Given the description of an element on the screen output the (x, y) to click on. 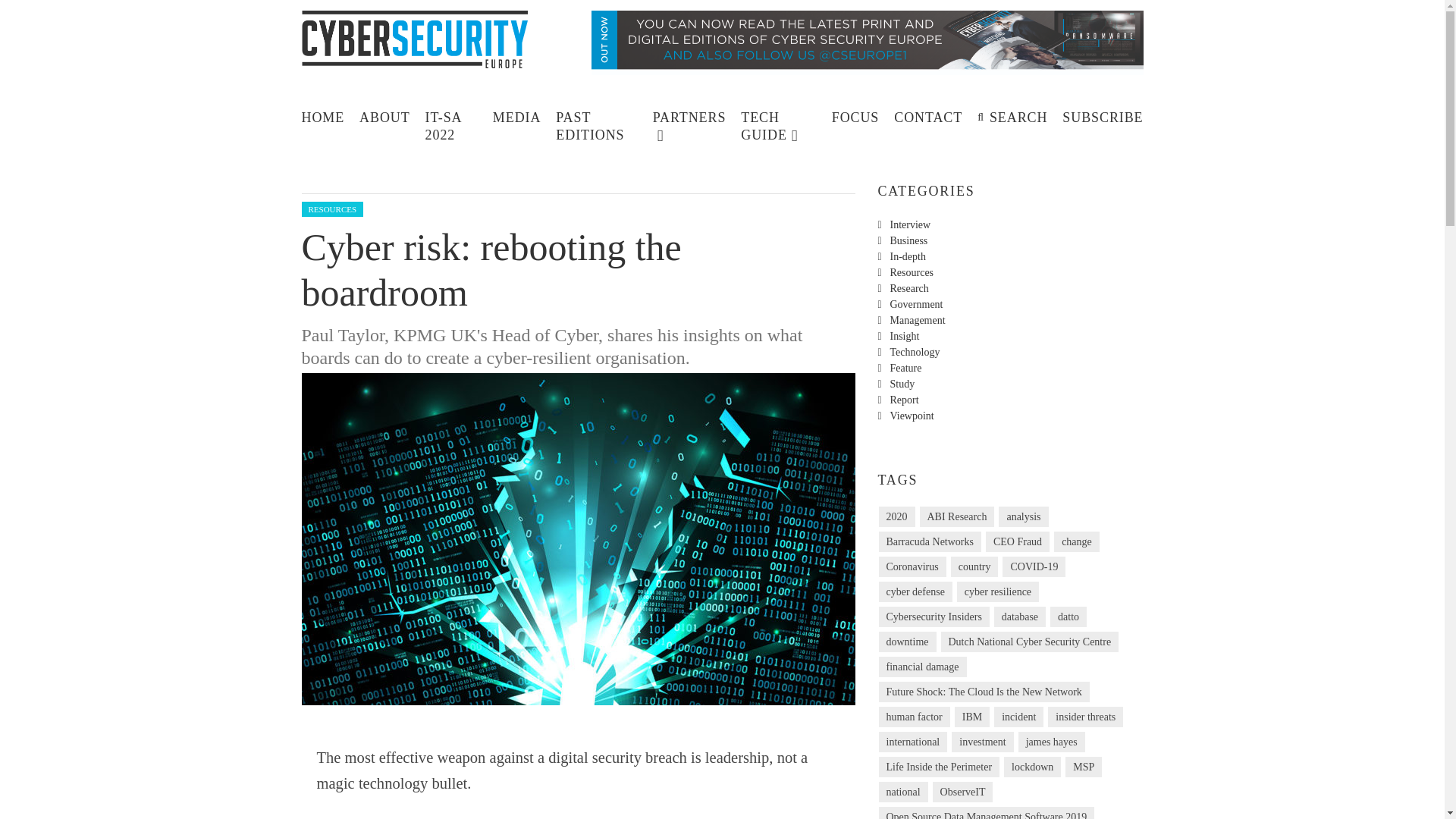
HOME (323, 116)
MEDIA (516, 116)
PARTNERS (689, 124)
ABOUT (384, 116)
PAST EDITIONS (596, 124)
TECH GUIDE (778, 124)
Skip navigation (334, 107)
IT-SA 2022 (450, 124)
